Given the description of an element on the screen output the (x, y) to click on. 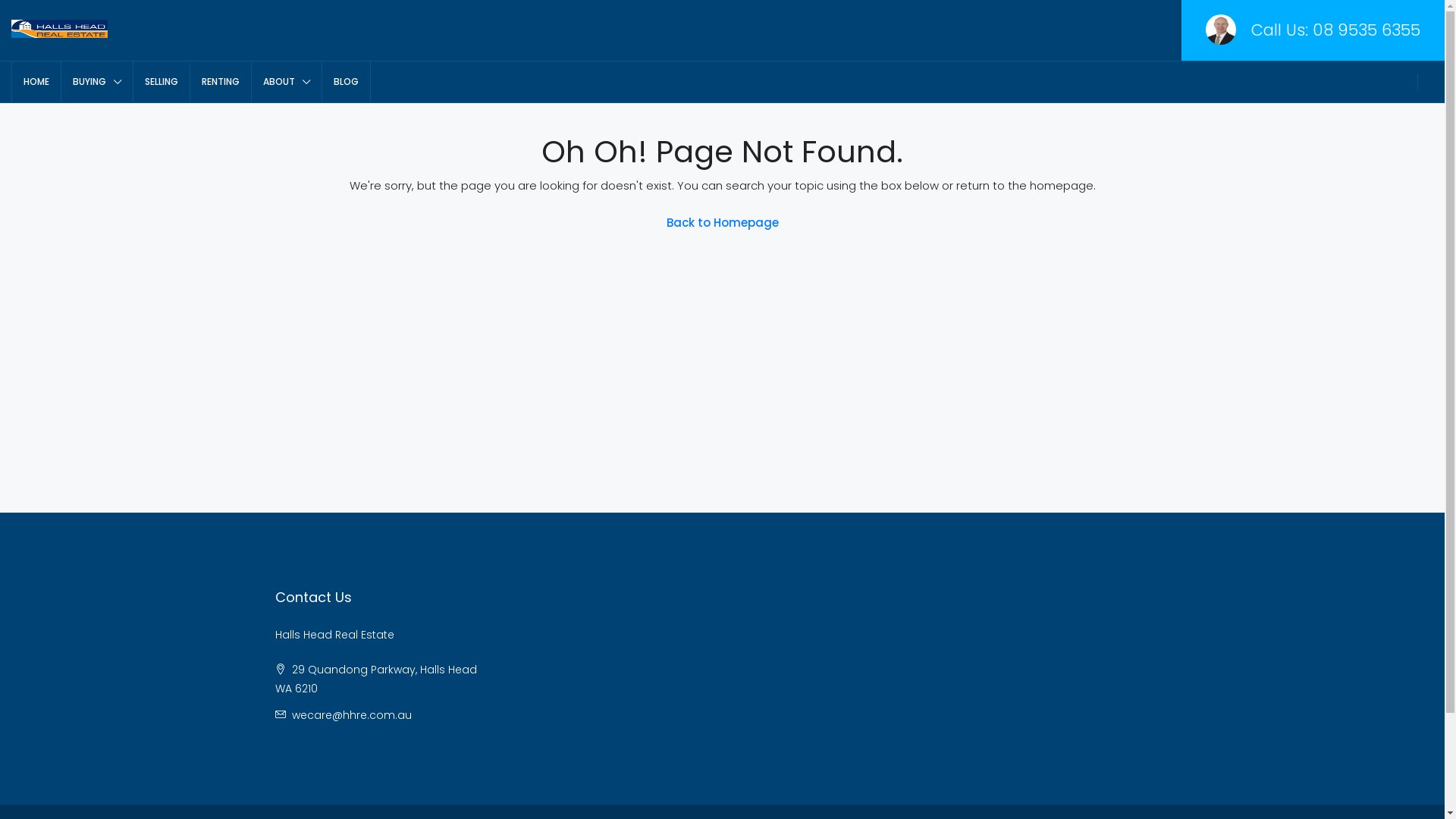
08 9535 6355 Element type: text (1366, 29)
SELLING Element type: text (161, 81)
RENTING Element type: text (220, 81)
HOME Element type: text (36, 81)
ABOUT Element type: text (286, 81)
wecare@hhre.com.au Element type: text (351, 714)
BUYING Element type: text (96, 81)
BLOG Element type: text (346, 81)
Back to Homepage Element type: text (721, 222)
